Given the description of an element on the screen output the (x, y) to click on. 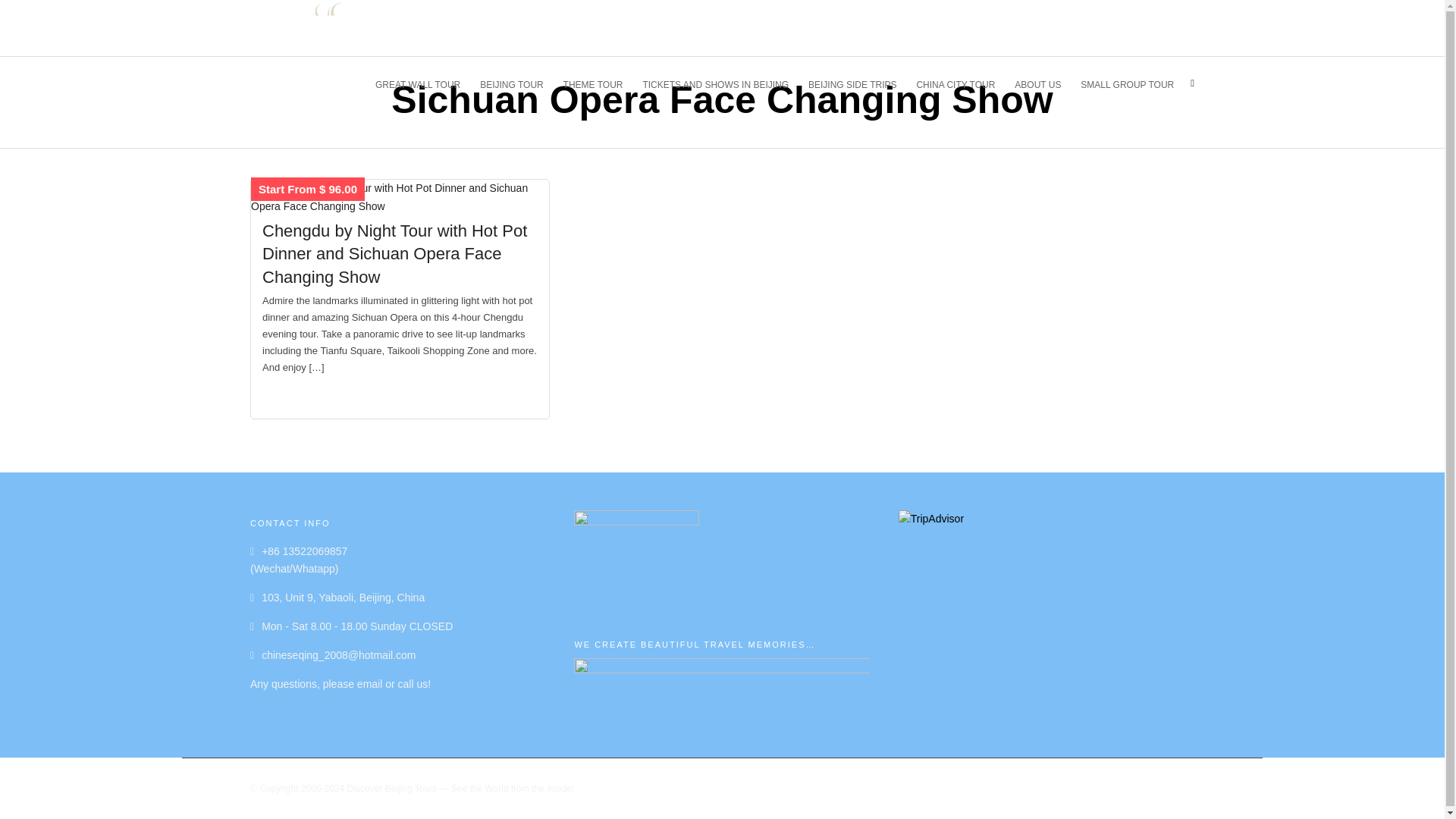
CHINA CITY TOUR (961, 83)
ABOUT US (1044, 83)
THEME TOUR (599, 83)
TICKETS AND SHOWS IN BEIJING (722, 83)
SMALL GROUP TOUR (1133, 83)
BEIJING TOUR (518, 83)
BEIJING SIDE TRIPS (858, 83)
GREAT WALL TOUR (424, 83)
